Given the description of an element on the screen output the (x, y) to click on. 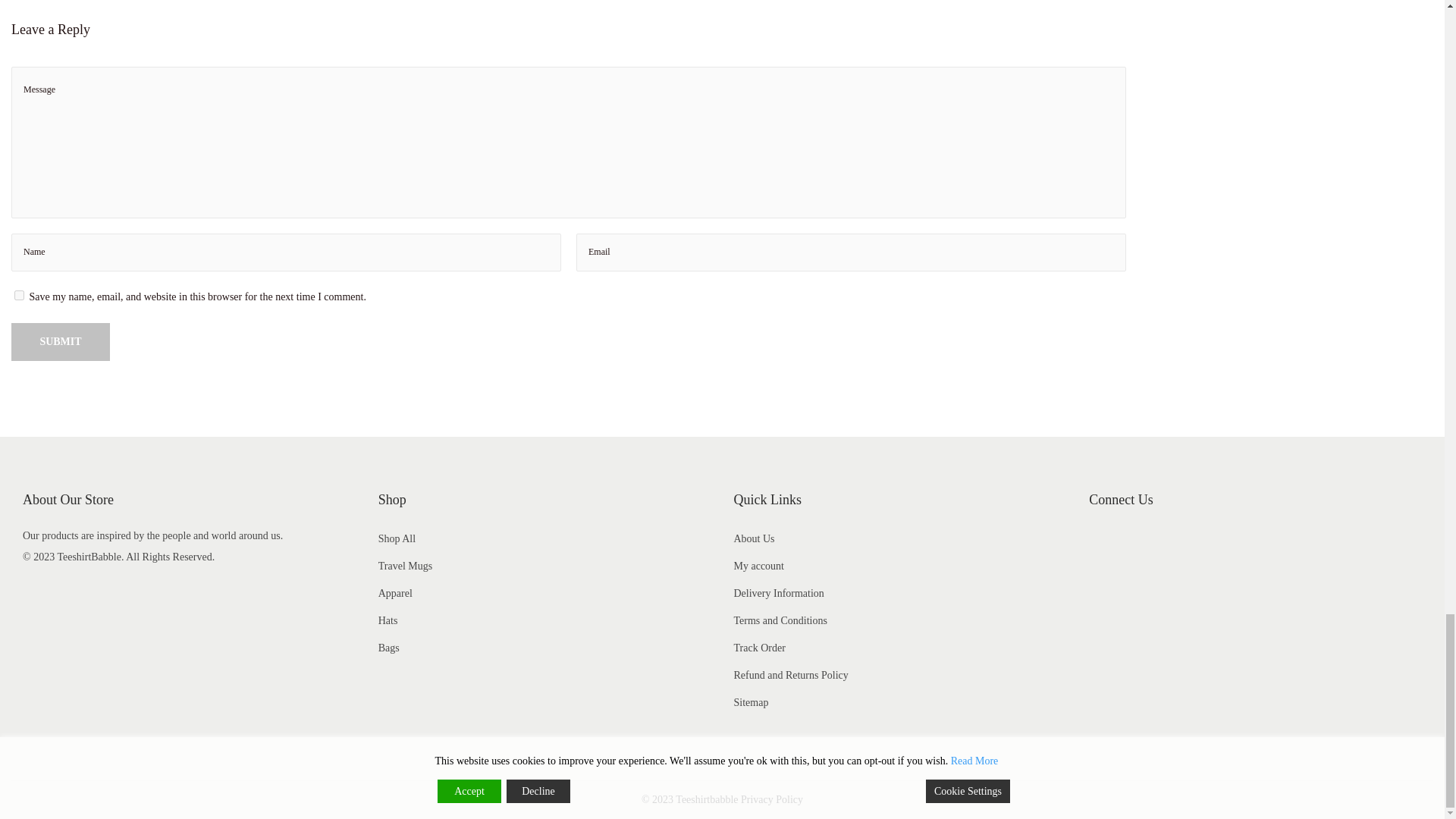
Submit (60, 341)
yes (19, 295)
